Given the description of an element on the screen output the (x, y) to click on. 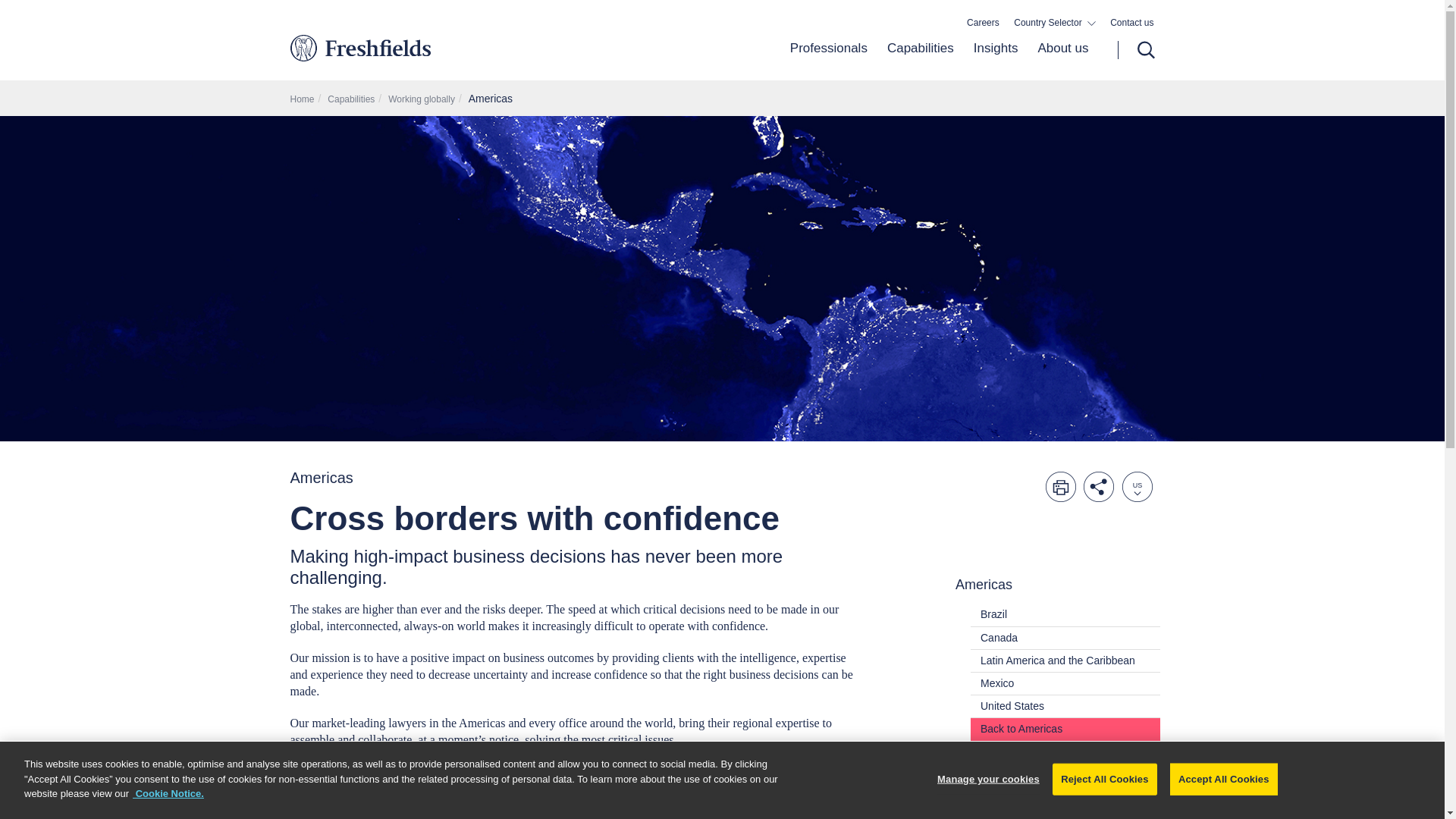
Capabilities (920, 59)
Country Selector (1053, 22)
Careers (982, 22)
Contact us (1131, 22)
Search (1136, 49)
Insights (995, 59)
Professionals (828, 59)
Freshfields Bruckhaus Deringer (423, 46)
About us (1057, 59)
Careers (982, 22)
